Given the description of an element on the screen output the (x, y) to click on. 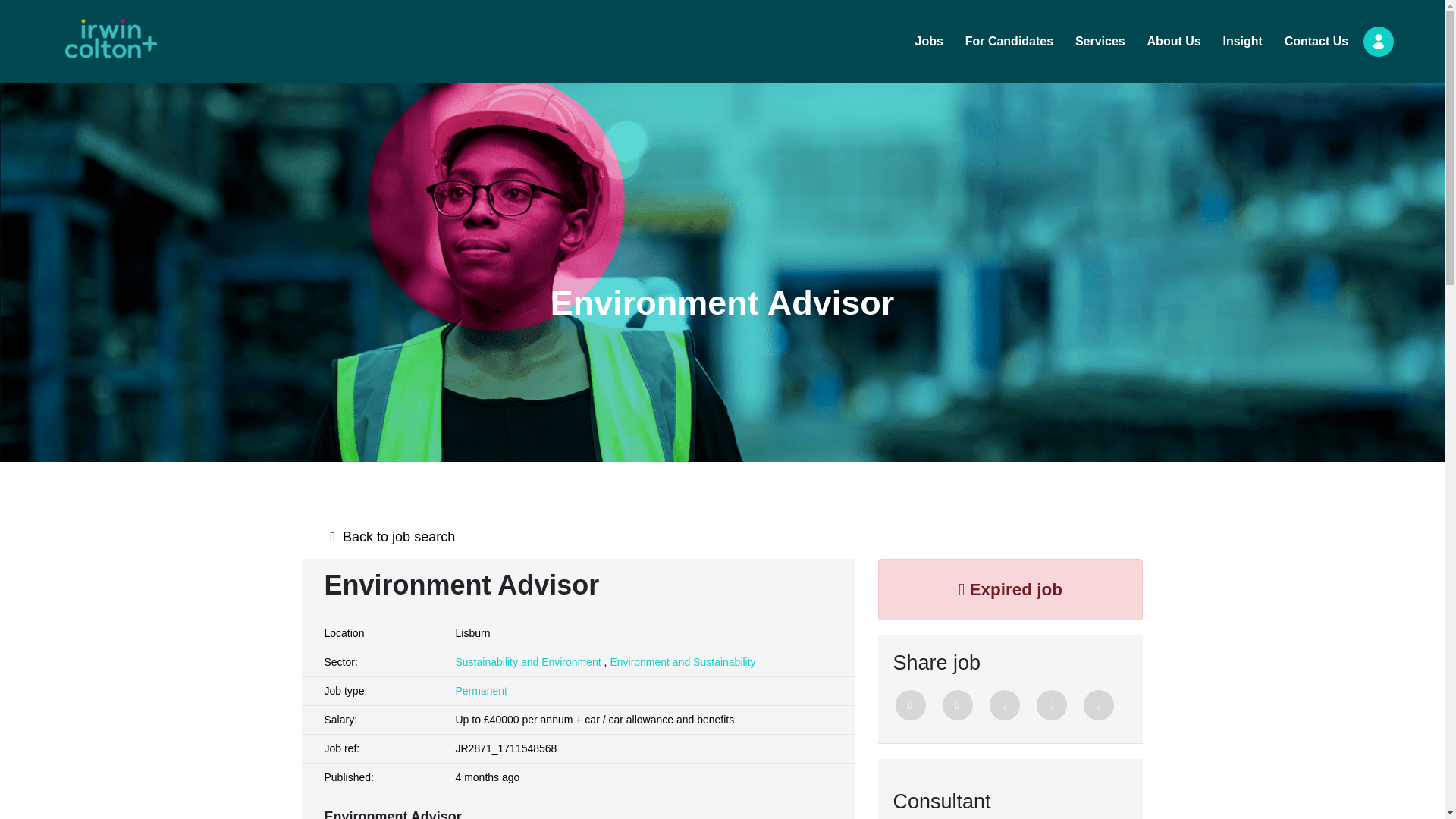
send in Whatsapp (1098, 705)
For Candidates (1008, 41)
Tweet this (909, 705)
Jobs (929, 41)
Email (1050, 705)
share on LinkedIn (1003, 705)
share on Facebook (957, 705)
